Given the description of an element on the screen output the (x, y) to click on. 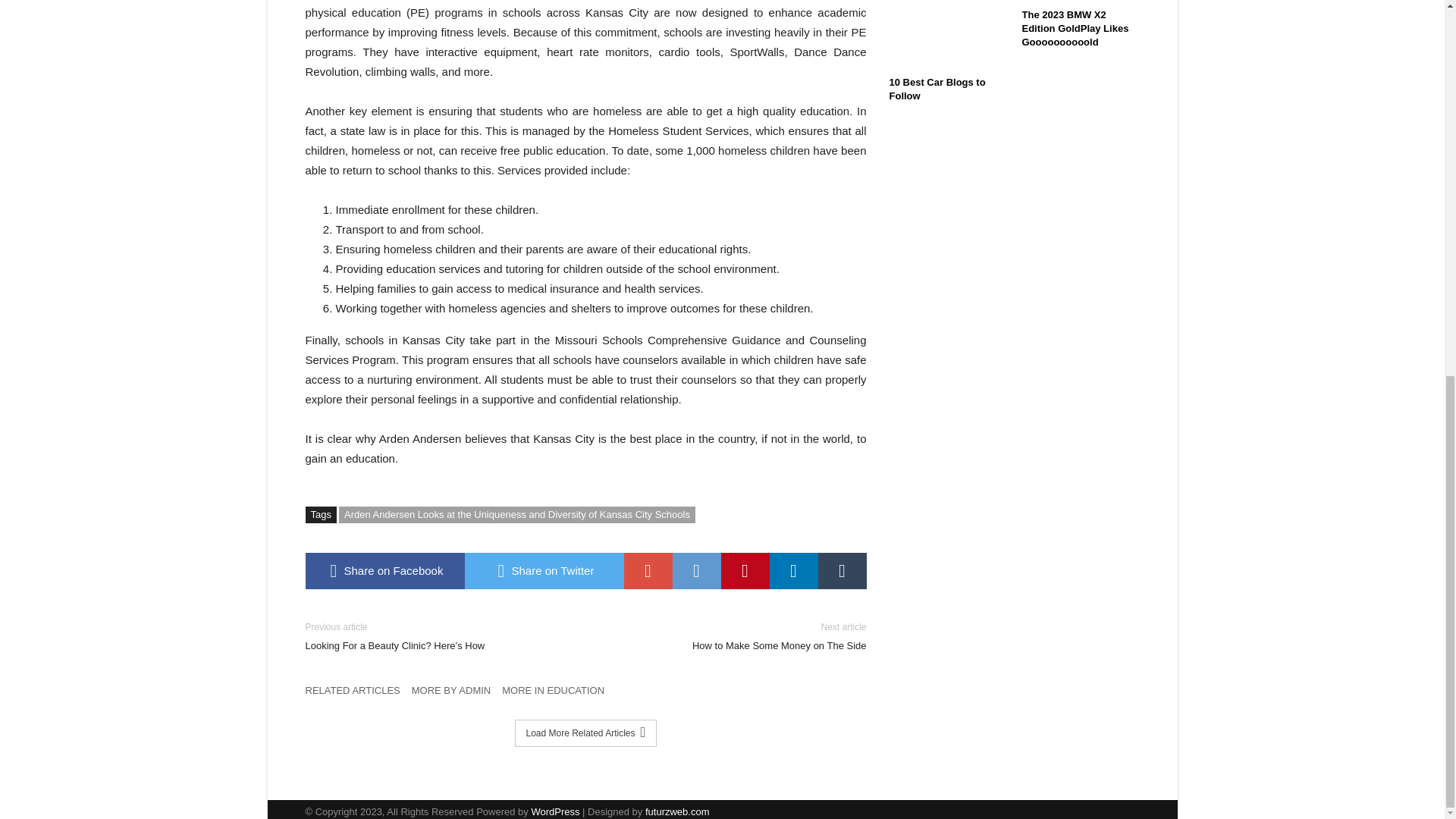
twitter (543, 570)
Share on Linkedin (792, 570)
reddit (695, 570)
MORE BY ADMIN (457, 694)
google (647, 570)
Share on Pinterest (737, 636)
Share on Facebook (744, 570)
MORE IN EDUCATION (384, 570)
linkedin (558, 694)
Share on Reddit (792, 570)
Share on Tumblr (695, 570)
RELATED ARTICLES (841, 570)
Share on Twitter (357, 694)
pinterest (543, 570)
